Given the description of an element on the screen output the (x, y) to click on. 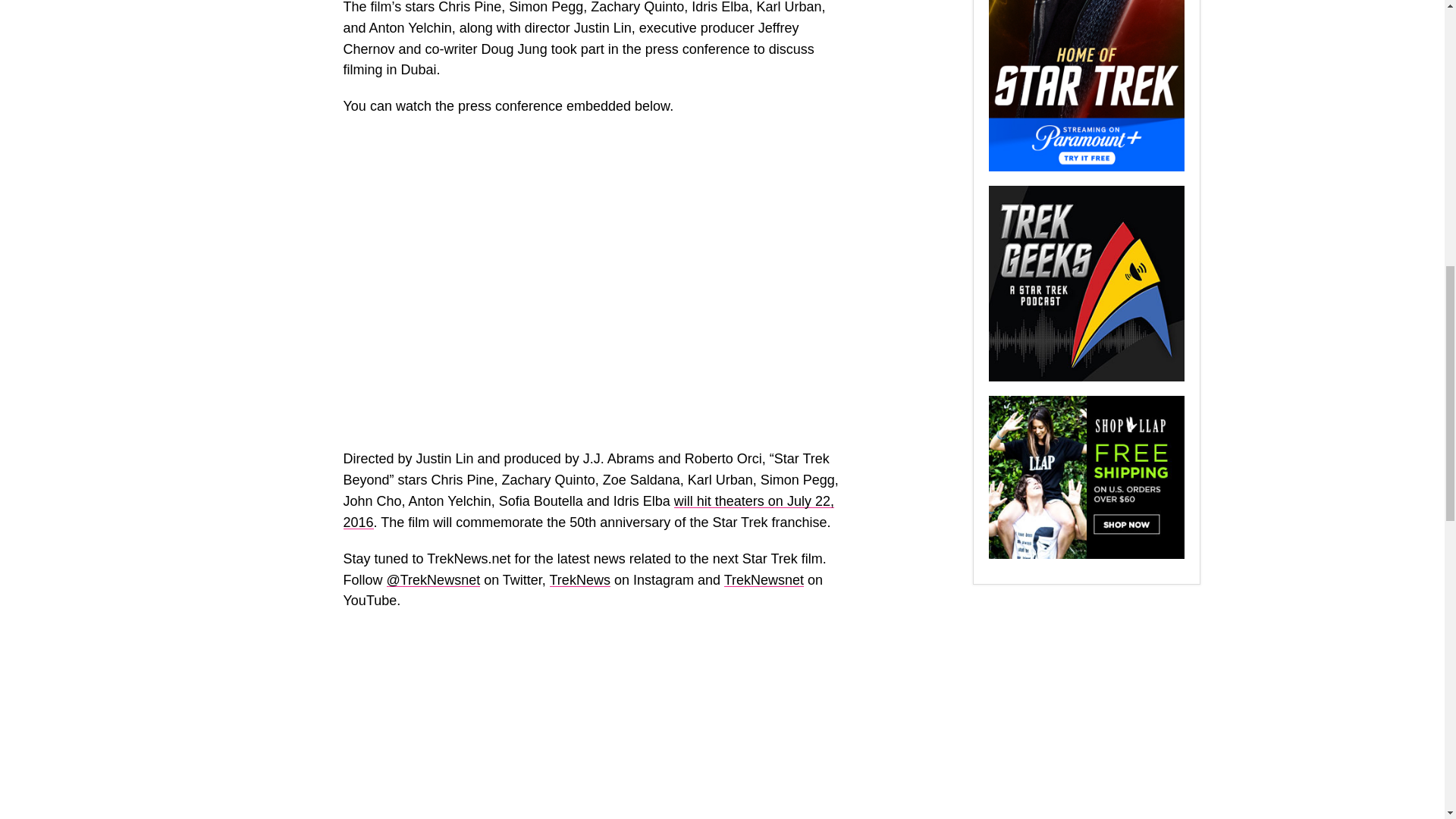
TrekNews (580, 580)
TrekNewsnet (763, 580)
